Given the description of an element on the screen output the (x, y) to click on. 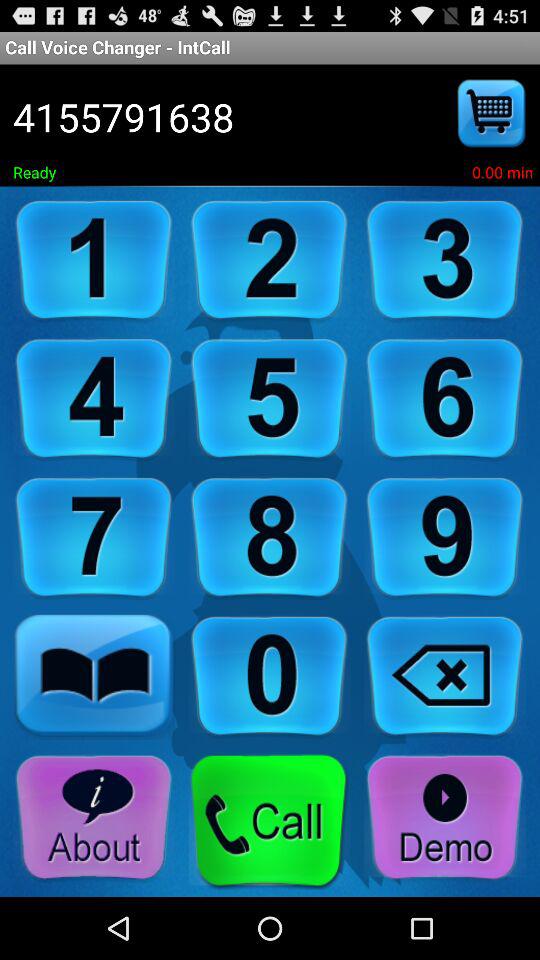
display relevant information (94, 818)
